Given the description of an element on the screen output the (x, y) to click on. 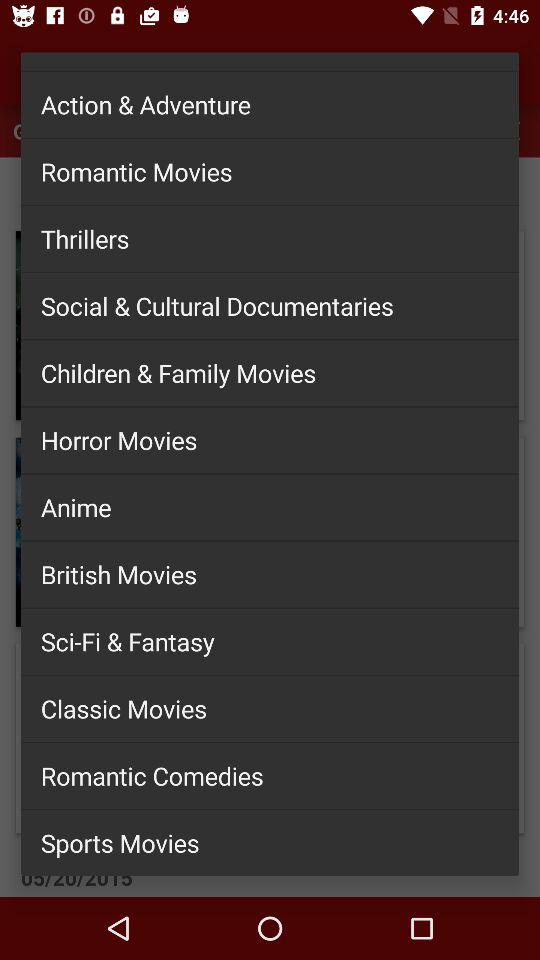
open the item below the    children & family movies (269, 440)
